Given the description of an element on the screen output the (x, y) to click on. 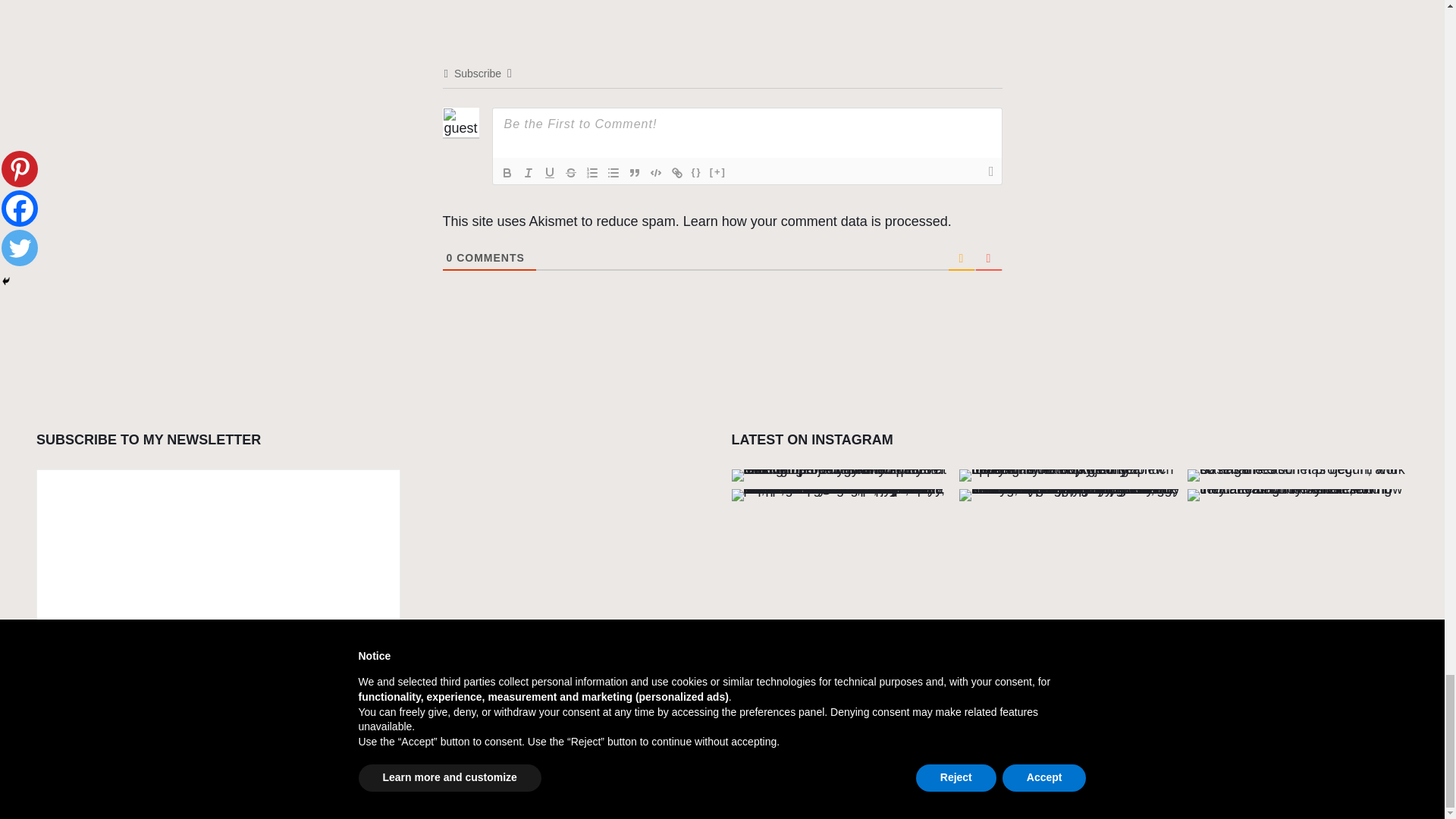
Italic (527, 172)
ordered (591, 172)
bullet (612, 172)
Underline (548, 172)
Bold (506, 172)
